Given the description of an element on the screen output the (x, y) to click on. 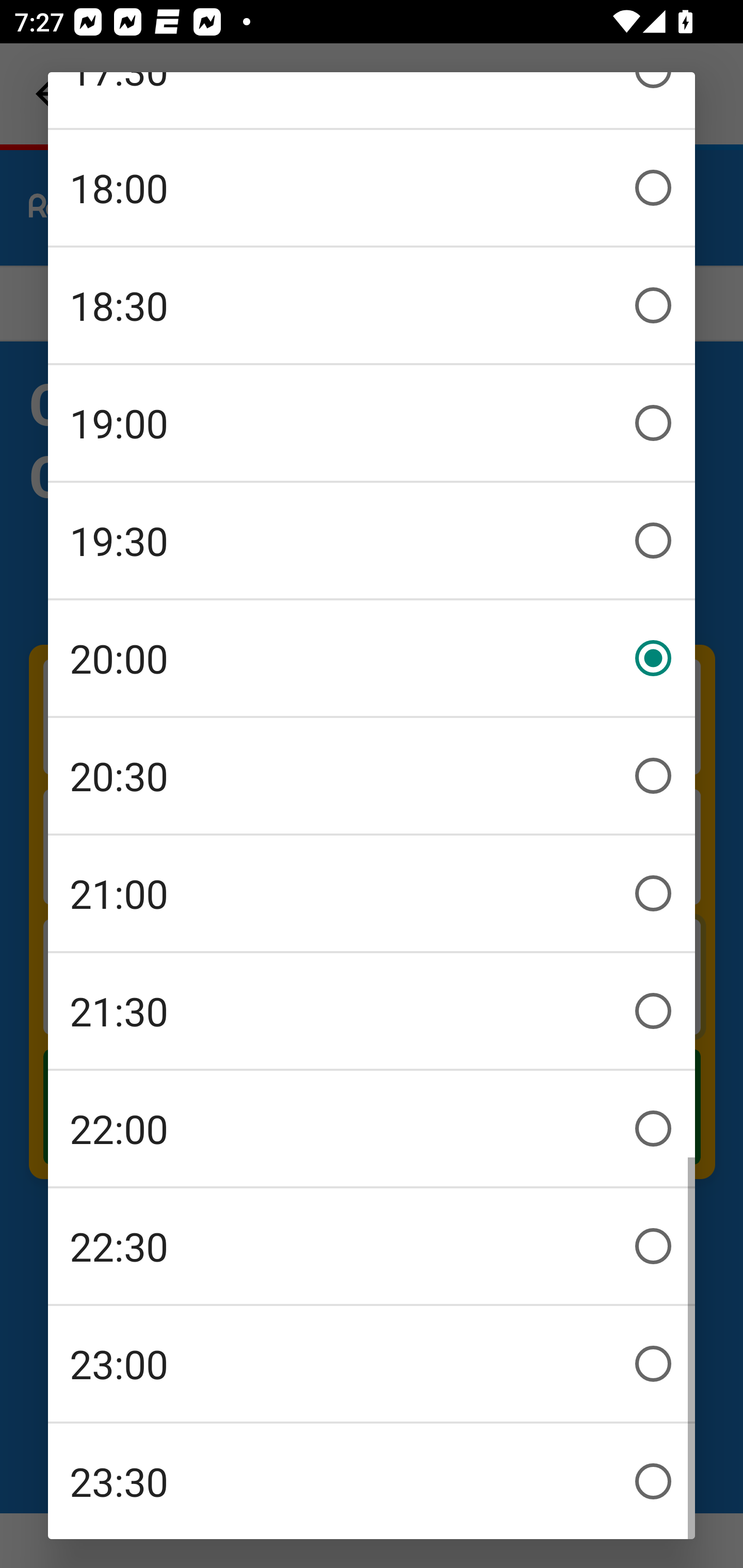
18:00 (371, 188)
18:30 (371, 305)
19:00 (371, 423)
19:30 (371, 540)
20:00 (371, 658)
20:30 (371, 776)
21:00 (371, 893)
21:30 (371, 1011)
22:00 (371, 1128)
22:30 (371, 1246)
23:00 (371, 1364)
23:30 (371, 1481)
